Given the description of an element on the screen output the (x, y) to click on. 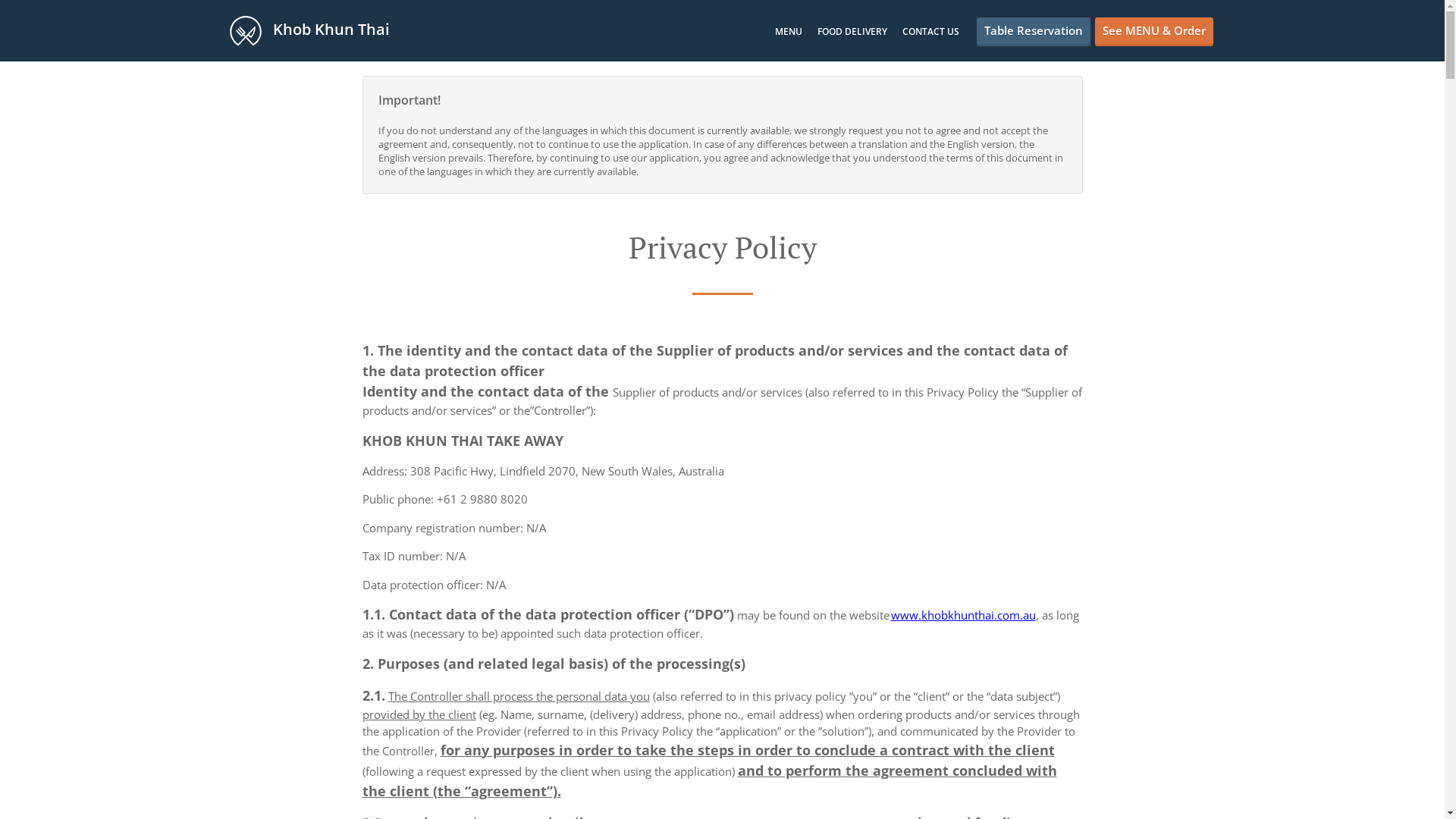
 Khob Khun Thai Element type: text (316, 30)
CONTACT US Element type: text (930, 31)
MENU Element type: text (788, 31)
FOOD DELIVERY Element type: text (852, 31)
www.khobkhunthai.com.au Element type: text (961, 614)
